Given the description of an element on the screen output the (x, y) to click on. 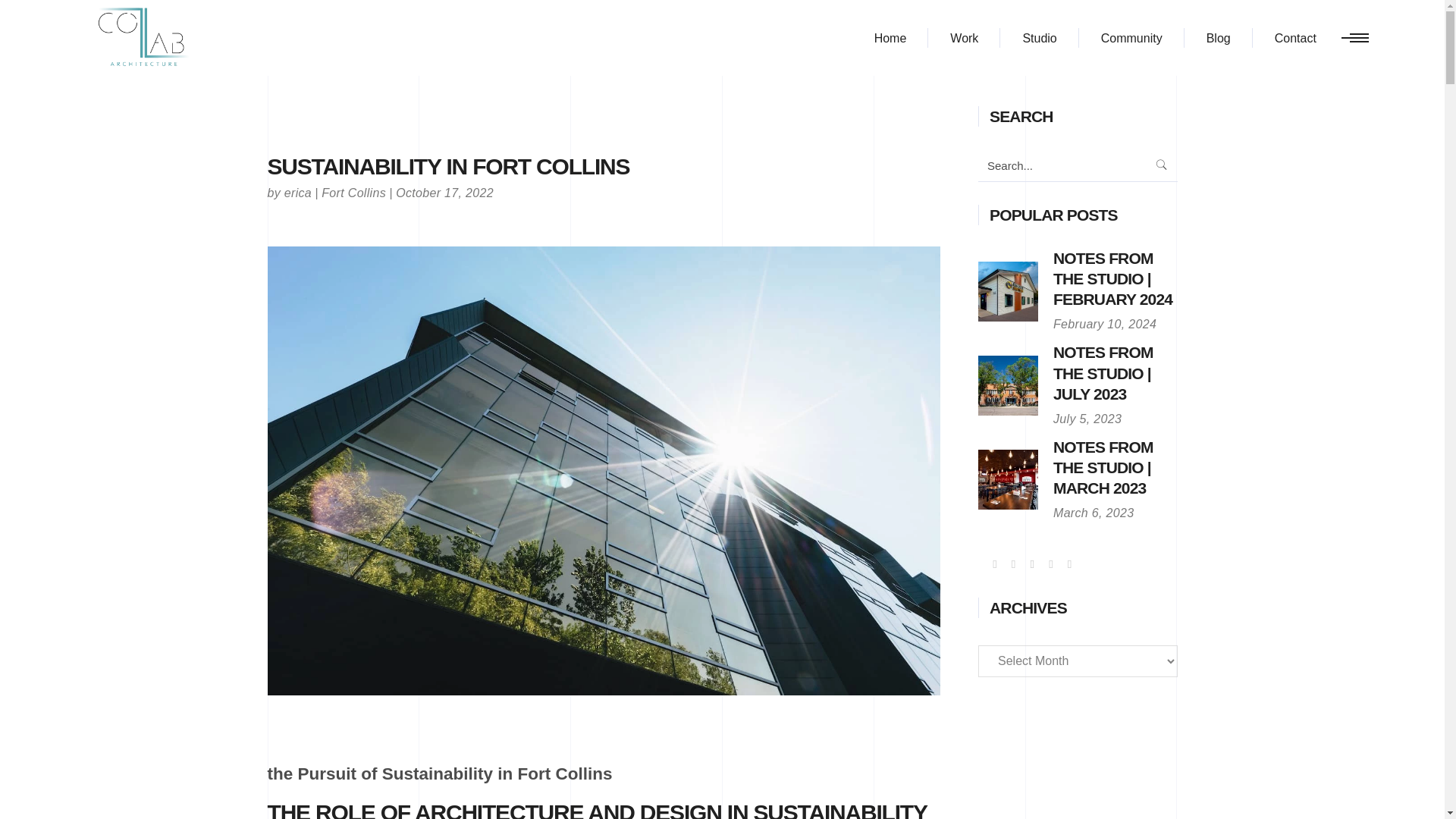
October 17, 2022 (444, 192)
Fundraisers and Events (1131, 38)
Fort Collins (353, 192)
Studio (1039, 38)
Search for: (1061, 164)
Contact (1295, 38)
Blog (1218, 38)
erica (297, 192)
Community (1131, 38)
Work (964, 38)
